Given the description of an element on the screen output the (x, y) to click on. 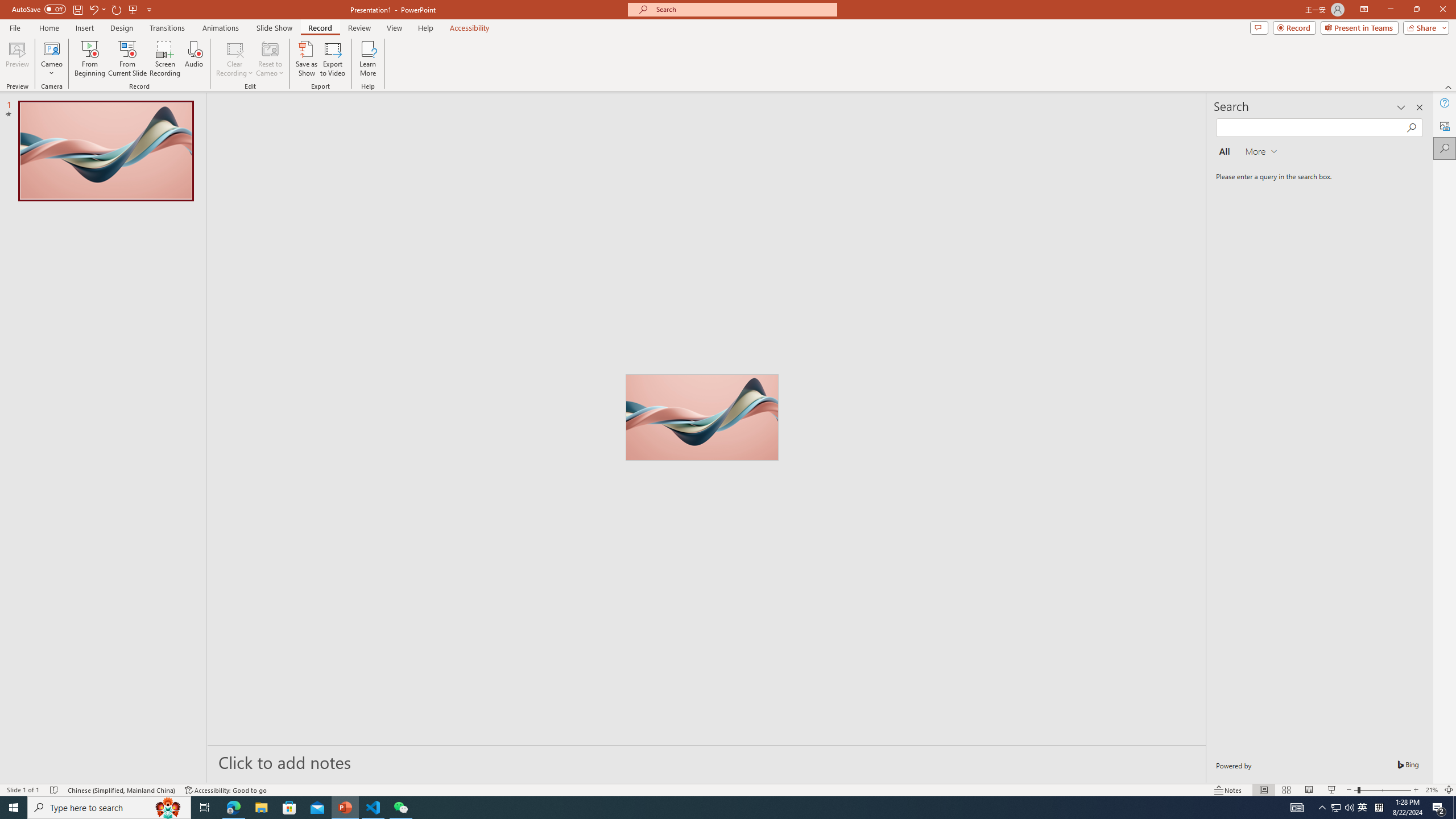
Preview (17, 58)
